Given the description of an element on the screen output the (x, y) to click on. 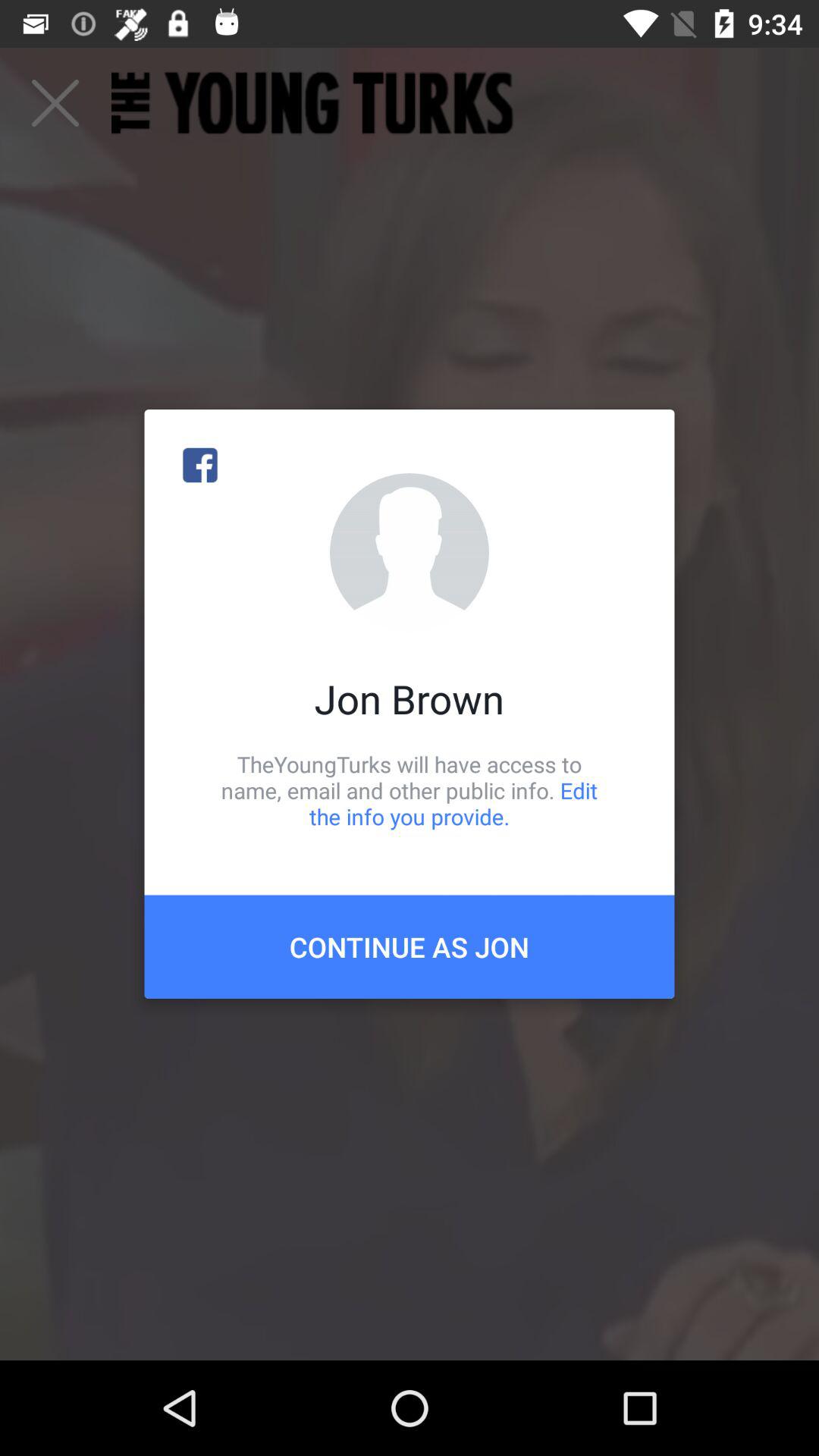
tap the item below theyoungturks will have (409, 946)
